Given the description of an element on the screen output the (x, y) to click on. 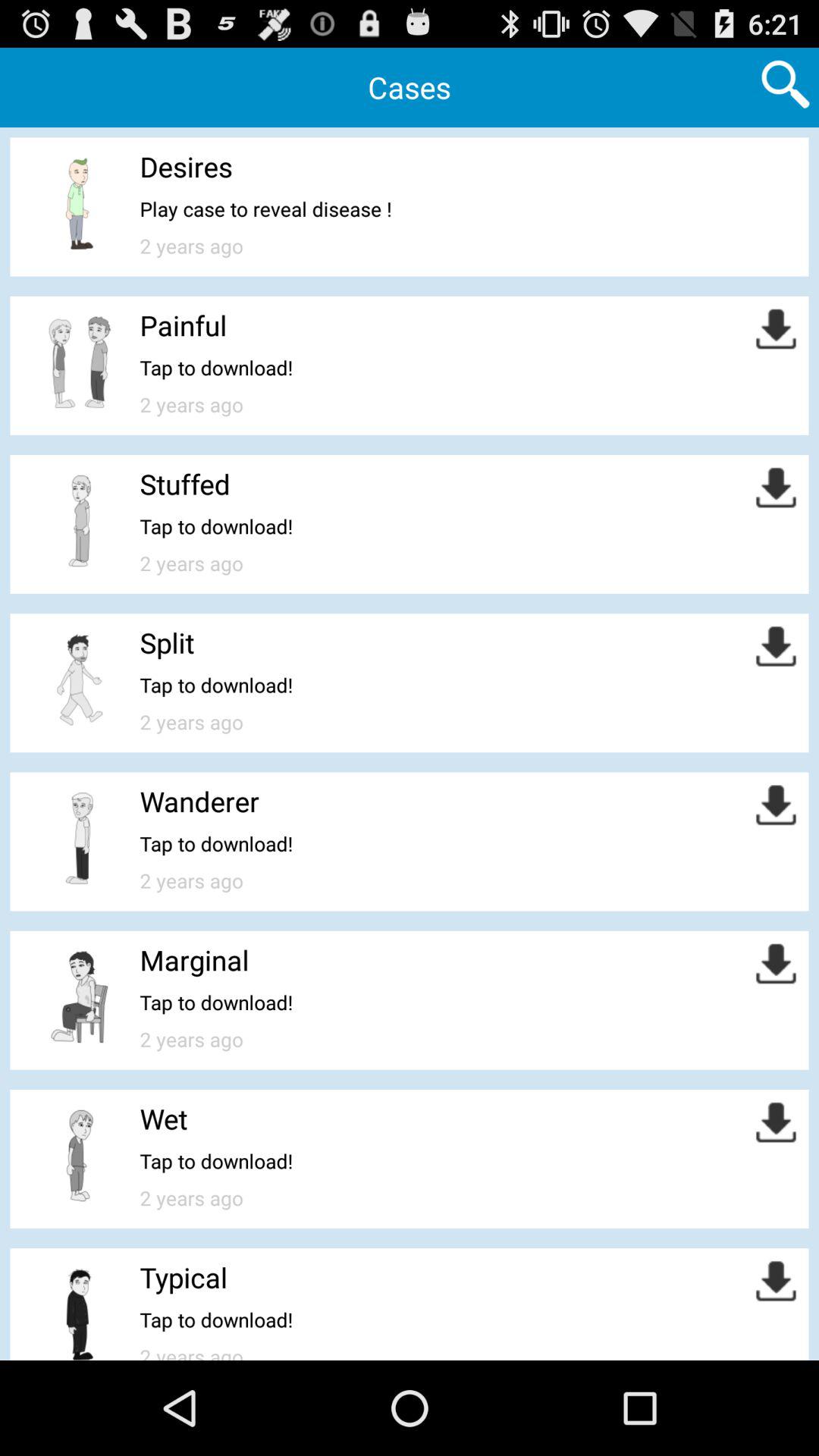
select app above tap to download! app (183, 1277)
